Given the description of an element on the screen output the (x, y) to click on. 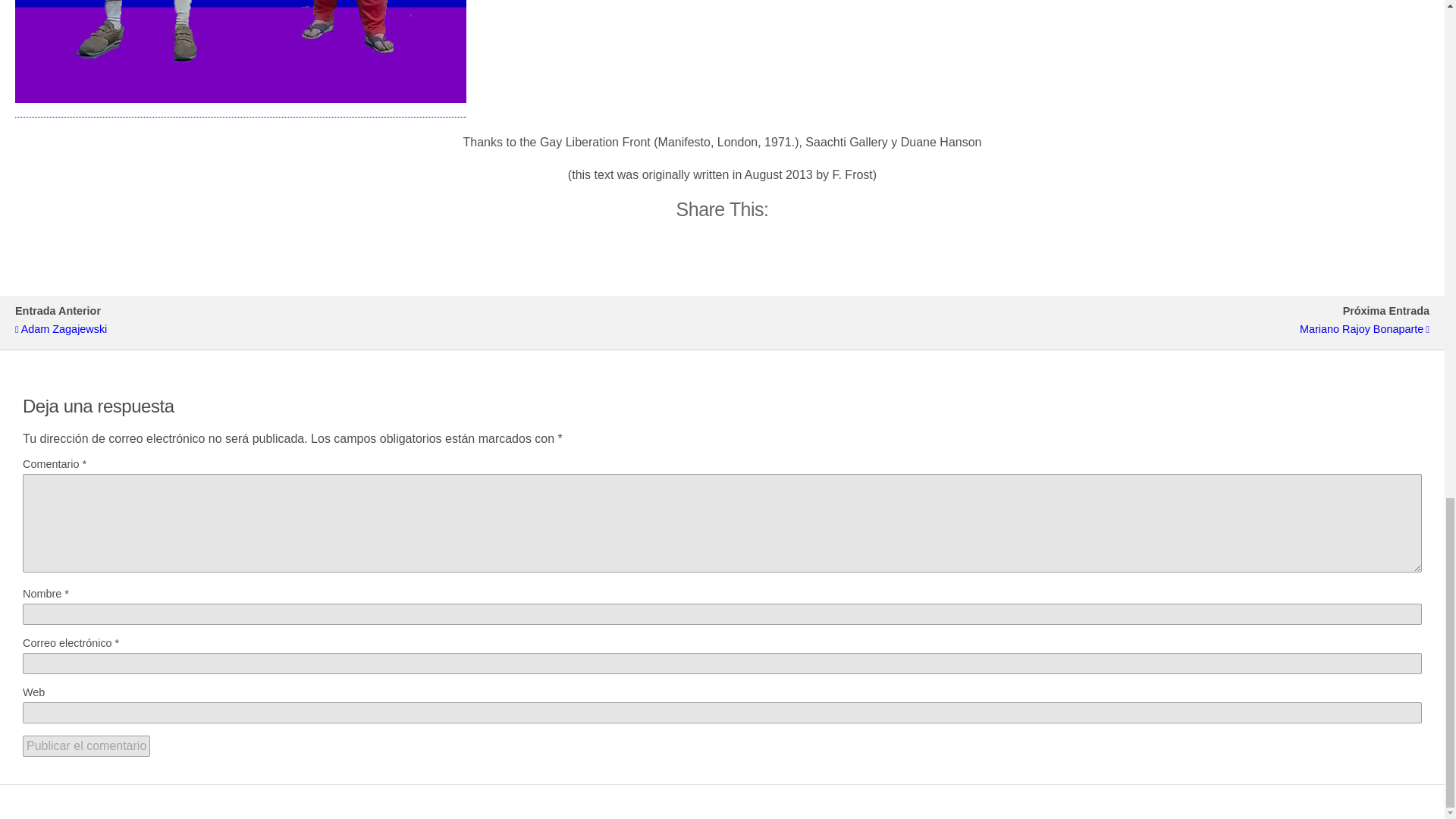
Adam Zagajewski (360, 329)
Publicar el comentario (86, 745)
Mariano Rajoy Bonaparte (1082, 329)
Publicar el comentario (86, 745)
